Given the description of an element on the screen output the (x, y) to click on. 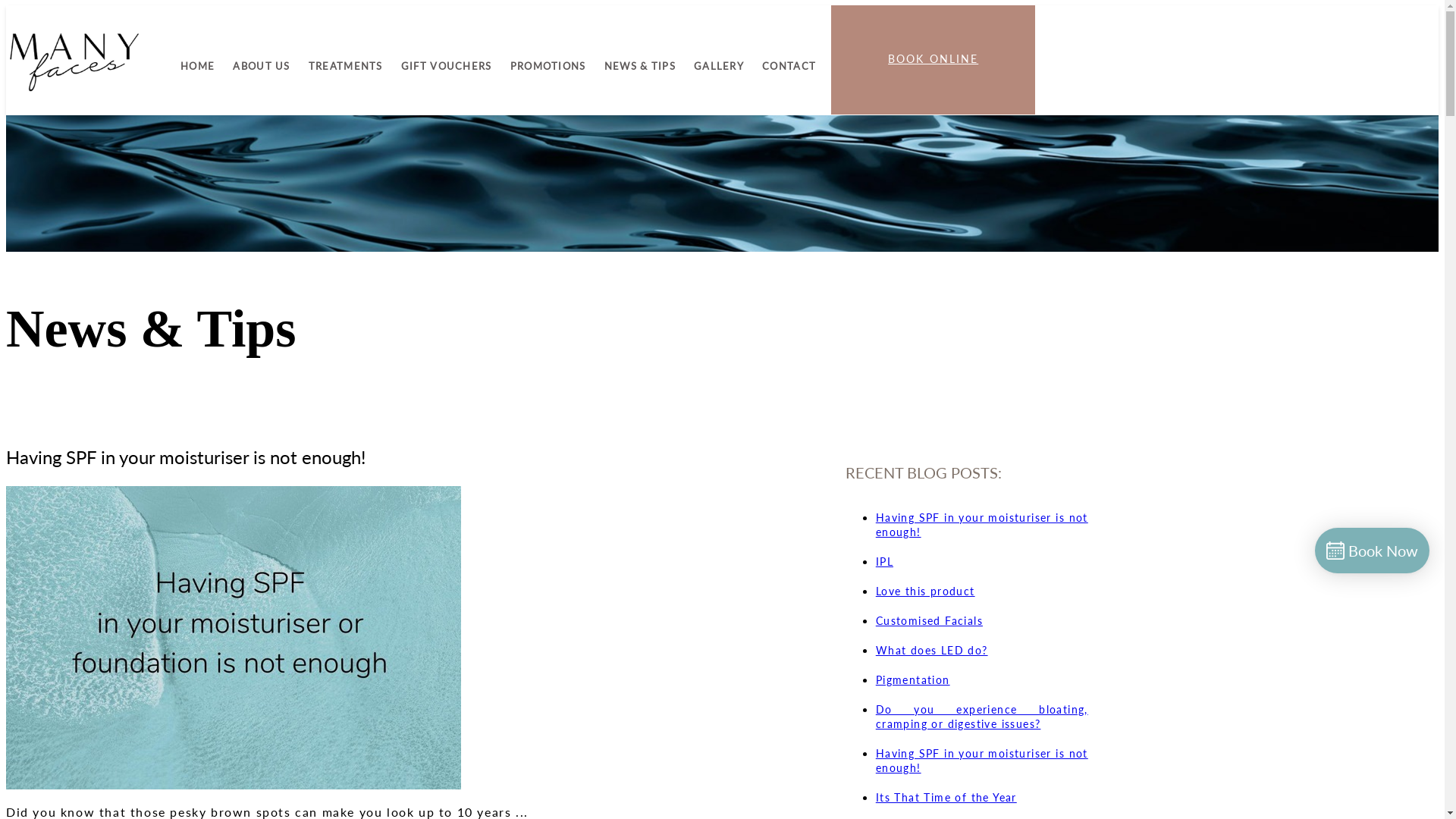
Having SPF in your moisturiser is not enough! Element type: text (981, 760)
BOOK ONLINE Element type: text (933, 59)
TREATMENTS Element type: text (345, 65)
What does LED do? Element type: text (931, 649)
Do you experience bloating, cramping or digestive issues? Element type: text (981, 716)
PROMOTIONS Element type: text (547, 65)
CONTACT Element type: text (786, 65)
Pigmentation Element type: text (912, 679)
Love this product Element type: text (925, 590)
GIFT VOUCHERS Element type: text (446, 65)
HOME Element type: text (197, 65)
GALLERY Element type: text (718, 65)
Its That Time of the Year Element type: text (945, 796)
Having SPF in your moisturiser is not enough! Element type: text (981, 524)
IPL Element type: text (884, 561)
ABOUT US Element type: text (261, 65)
NEWS & TIPS Element type: text (639, 65)
Customised Facials Element type: text (928, 620)
Book Now Element type: text (1371, 550)
